Given the description of an element on the screen output the (x, y) to click on. 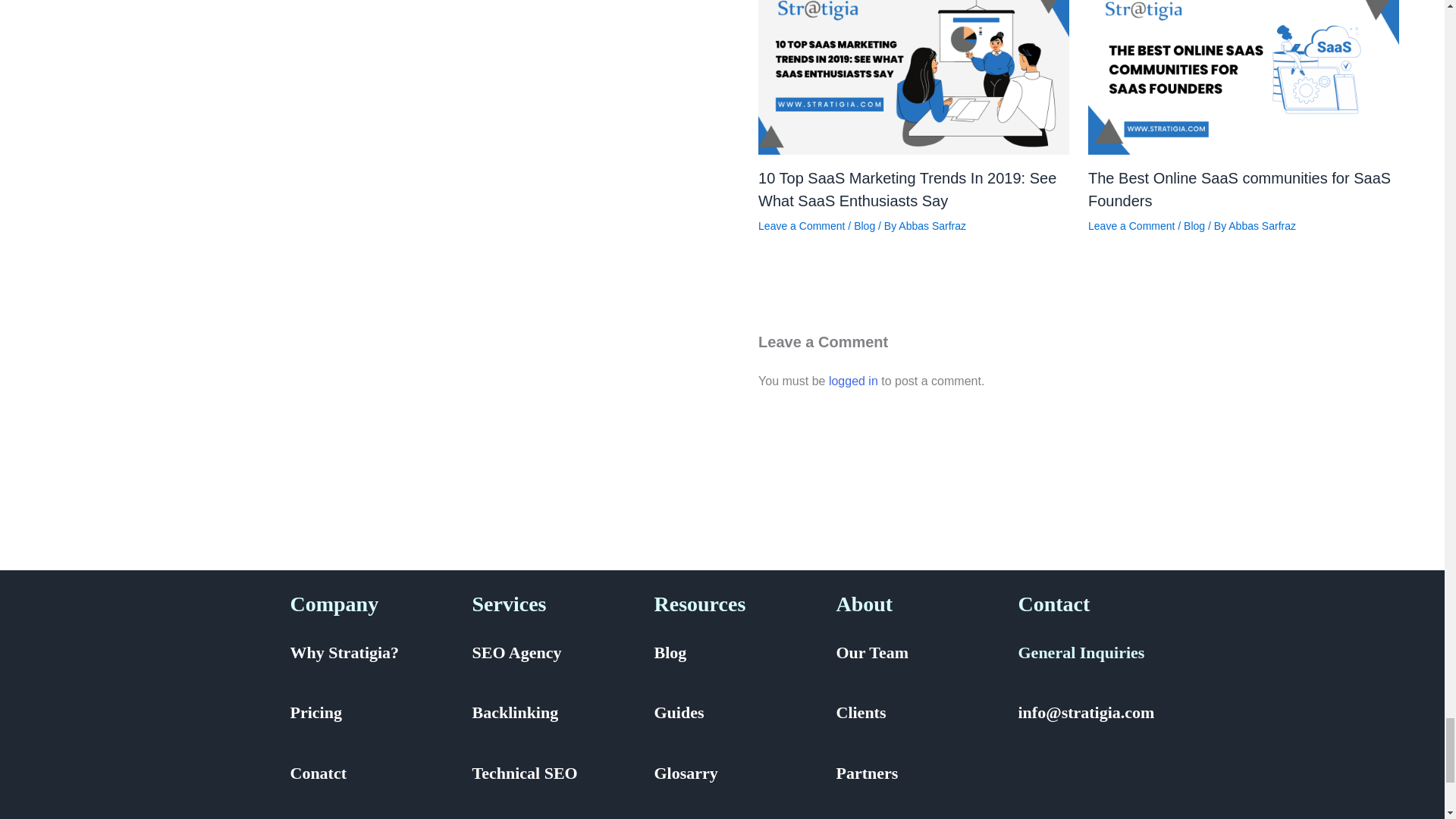
View all posts by Abbas Sarfraz (932, 225)
View all posts by Abbas Sarfraz (1261, 225)
